Given the description of an element on the screen output the (x, y) to click on. 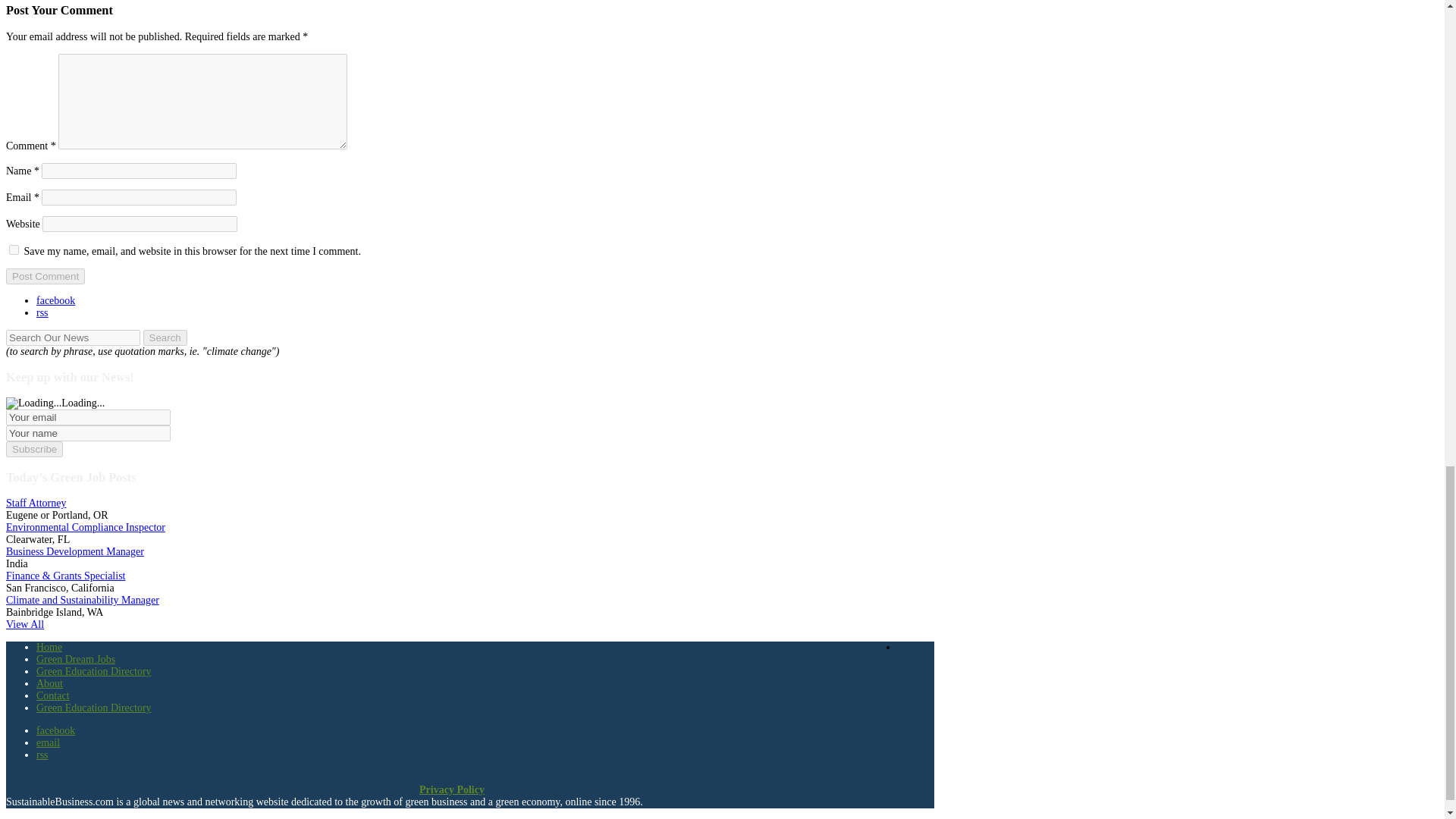
email (47, 742)
Facebook (55, 730)
Loading... (33, 403)
Environmental Compliance Inspector (85, 527)
Facebook (55, 300)
Staff Attorney (35, 502)
RSS (42, 312)
facebook (55, 300)
Subscribe (33, 449)
Search for: (72, 337)
Subscribe (33, 449)
RSS (42, 754)
Post Comment (44, 276)
Post Comment (44, 276)
Search (164, 337)
